Given the description of an element on the screen output the (x, y) to click on. 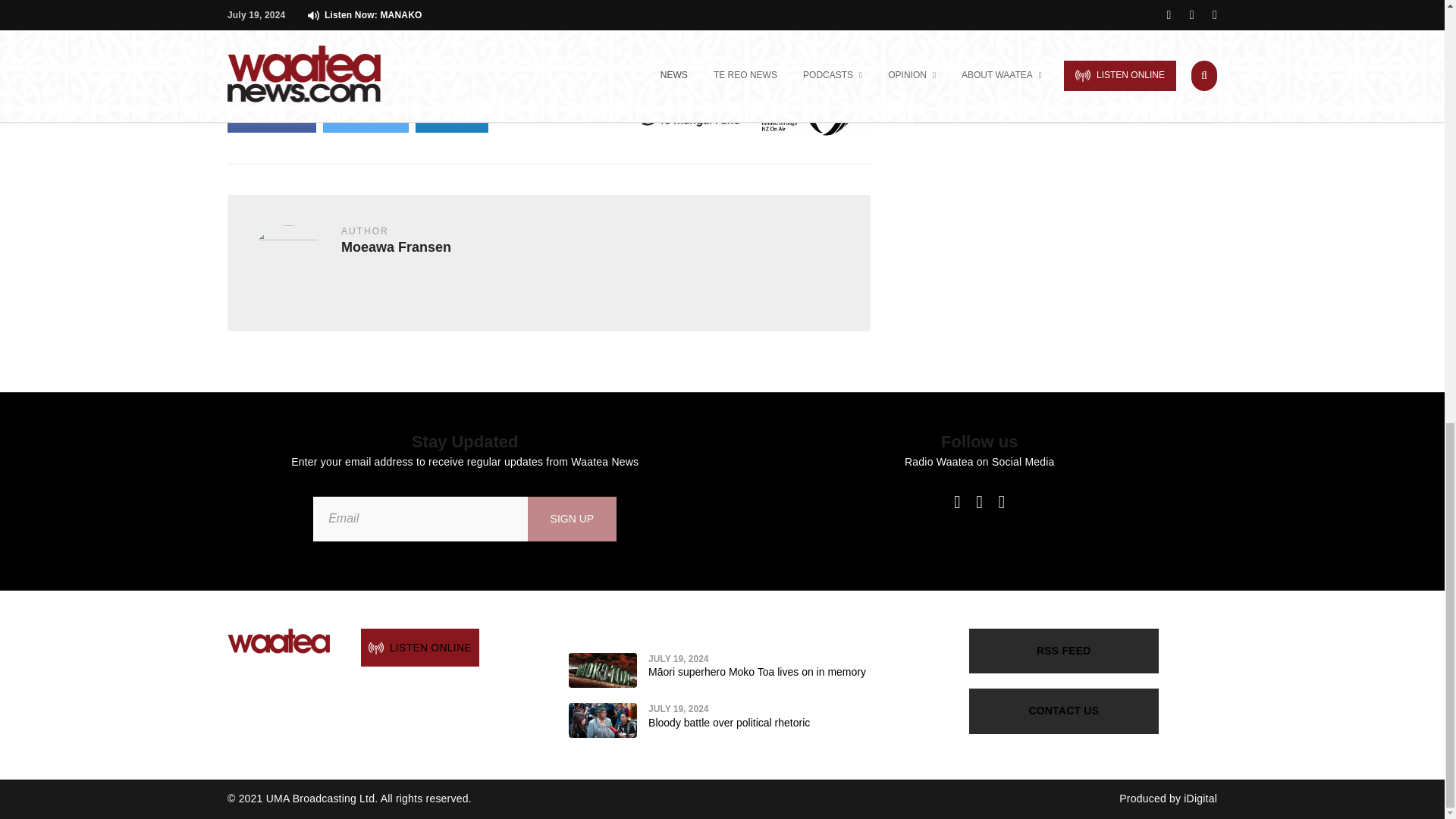
Instagram (1000, 501)
Share On Facebook (271, 117)
Share by Email (450, 117)
Facebook (956, 501)
Twitter (978, 501)
Share On Twitter (366, 117)
